Given the description of an element on the screen output the (x, y) to click on. 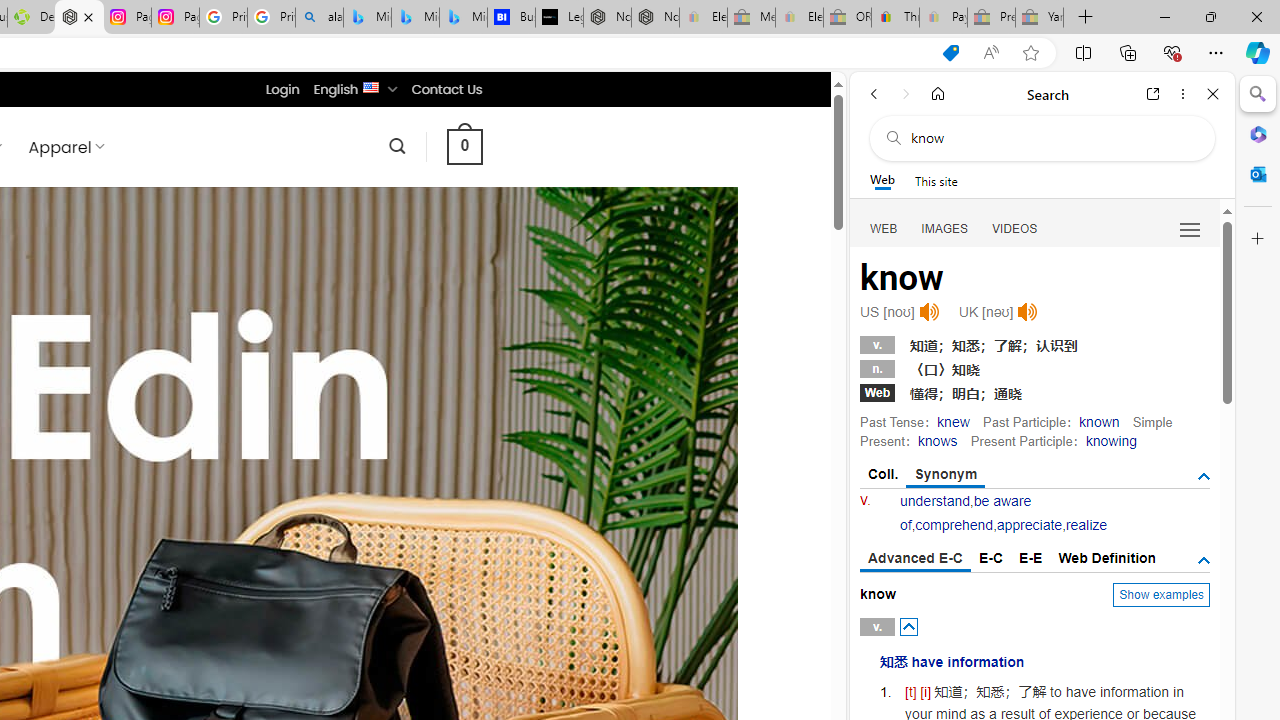
 0  (464, 146)
Microsoft Bing Travel - Shangri-La Hotel Bangkok (463, 17)
